Given the description of an element on the screen output the (x, y) to click on. 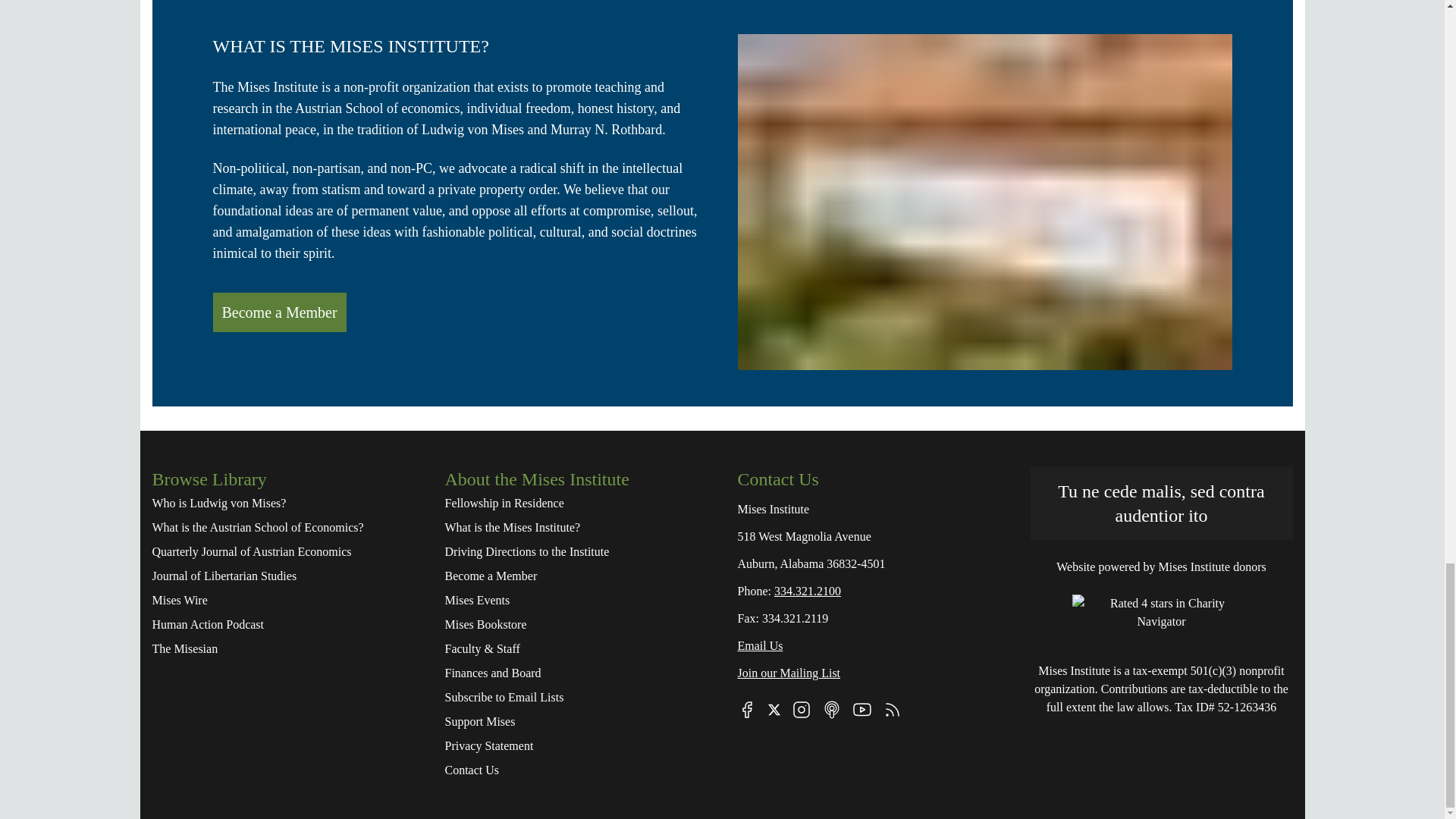
The Misesian (282, 648)
